Given the description of an element on the screen output the (x, y) to click on. 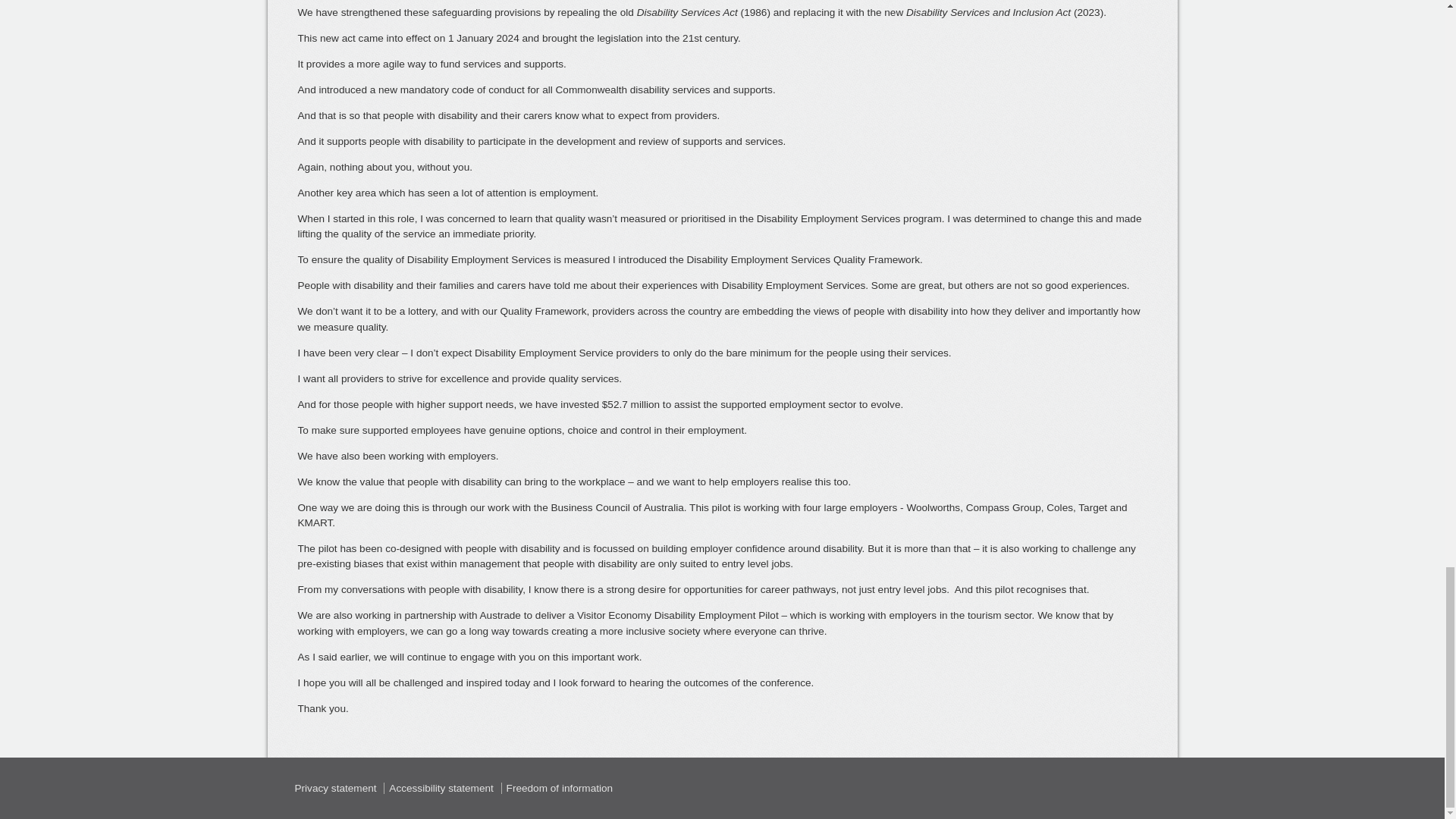
Privacy statement (334, 787)
Accessibility statement (440, 787)
